Given the description of an element on the screen output the (x, y) to click on. 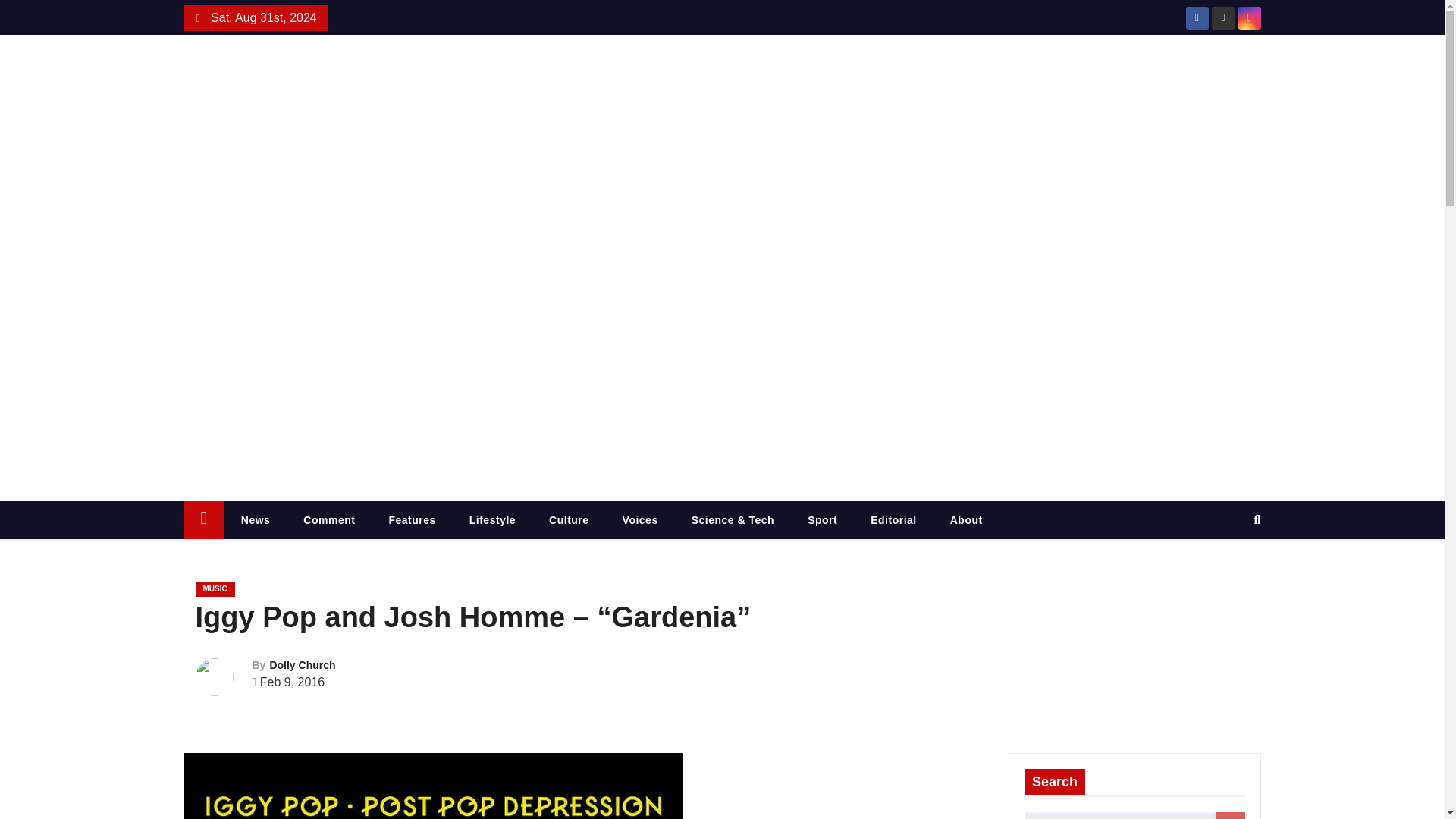
News (255, 519)
Sport (821, 519)
Features (411, 519)
Voices (640, 519)
Editorial (893, 519)
Lifestyle (492, 519)
Sport (821, 519)
Editorial (893, 519)
Culture (568, 519)
Voices (640, 519)
